Given the description of an element on the screen output the (x, y) to click on. 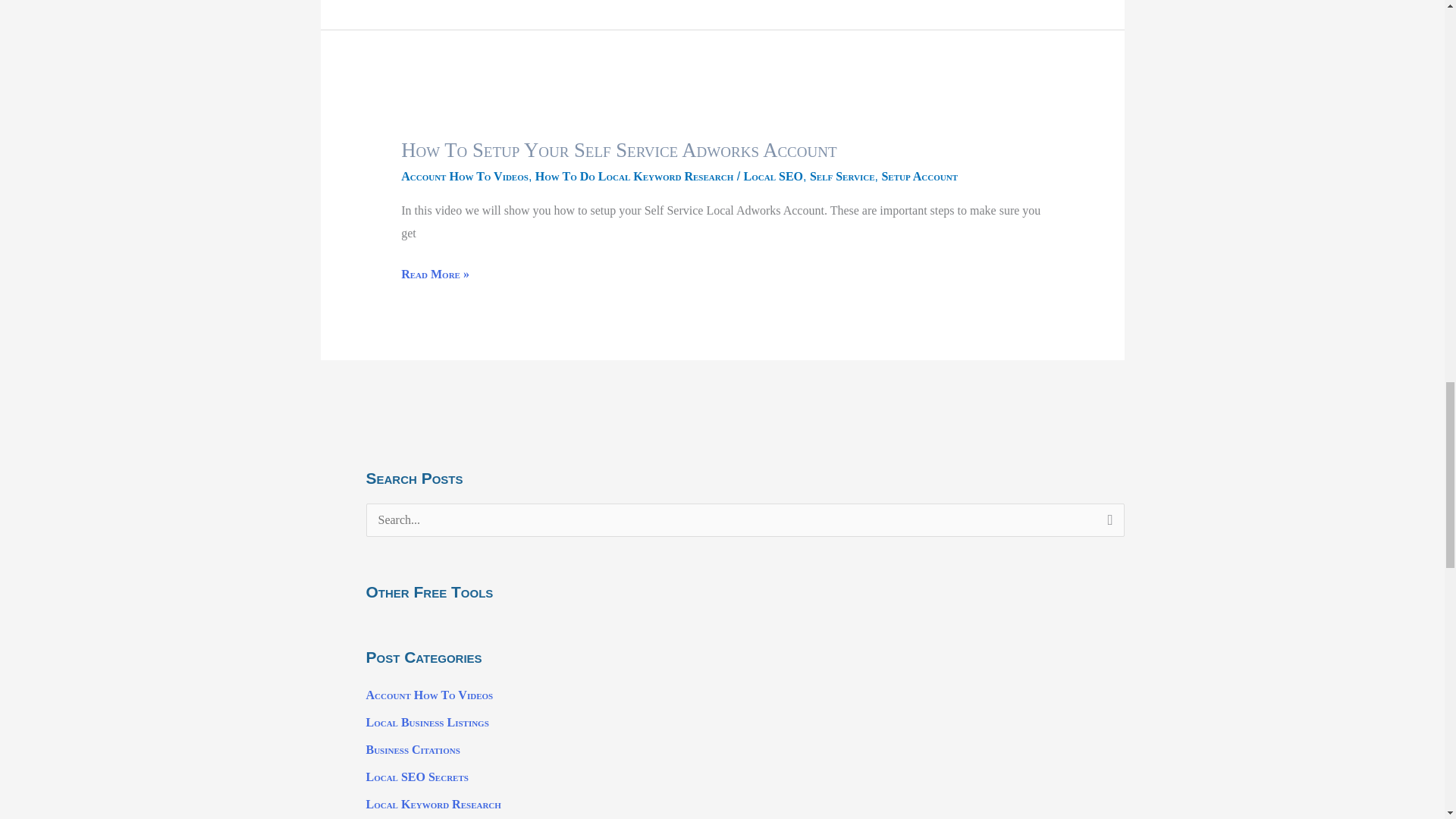
Account How To Videos (429, 694)
Search (1107, 524)
Search (1107, 524)
